Given the description of an element on the screen output the (x, y) to click on. 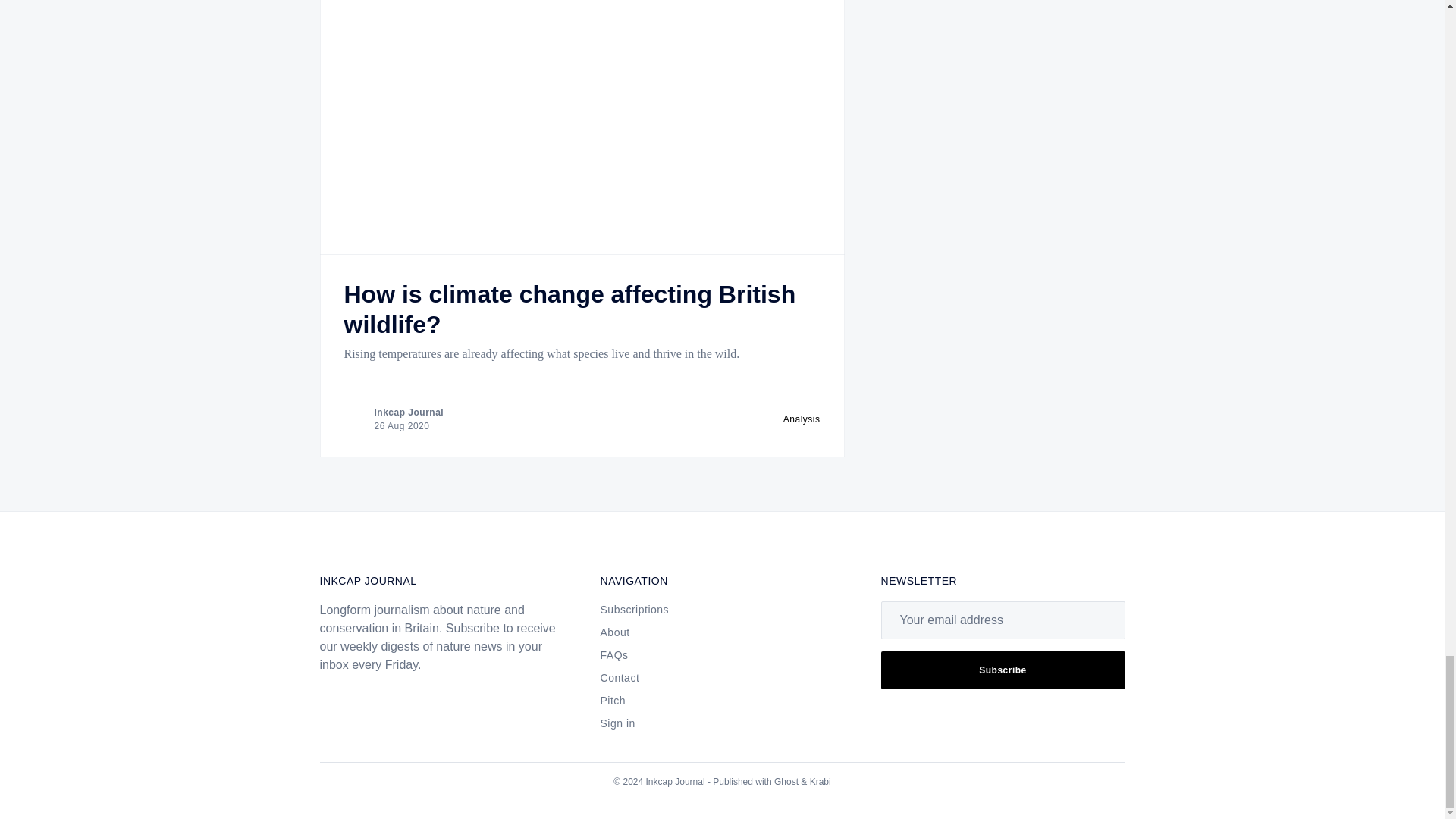
How is climate change affecting British wildlife? (569, 309)
